Given the description of an element on the screen output the (x, y) to click on. 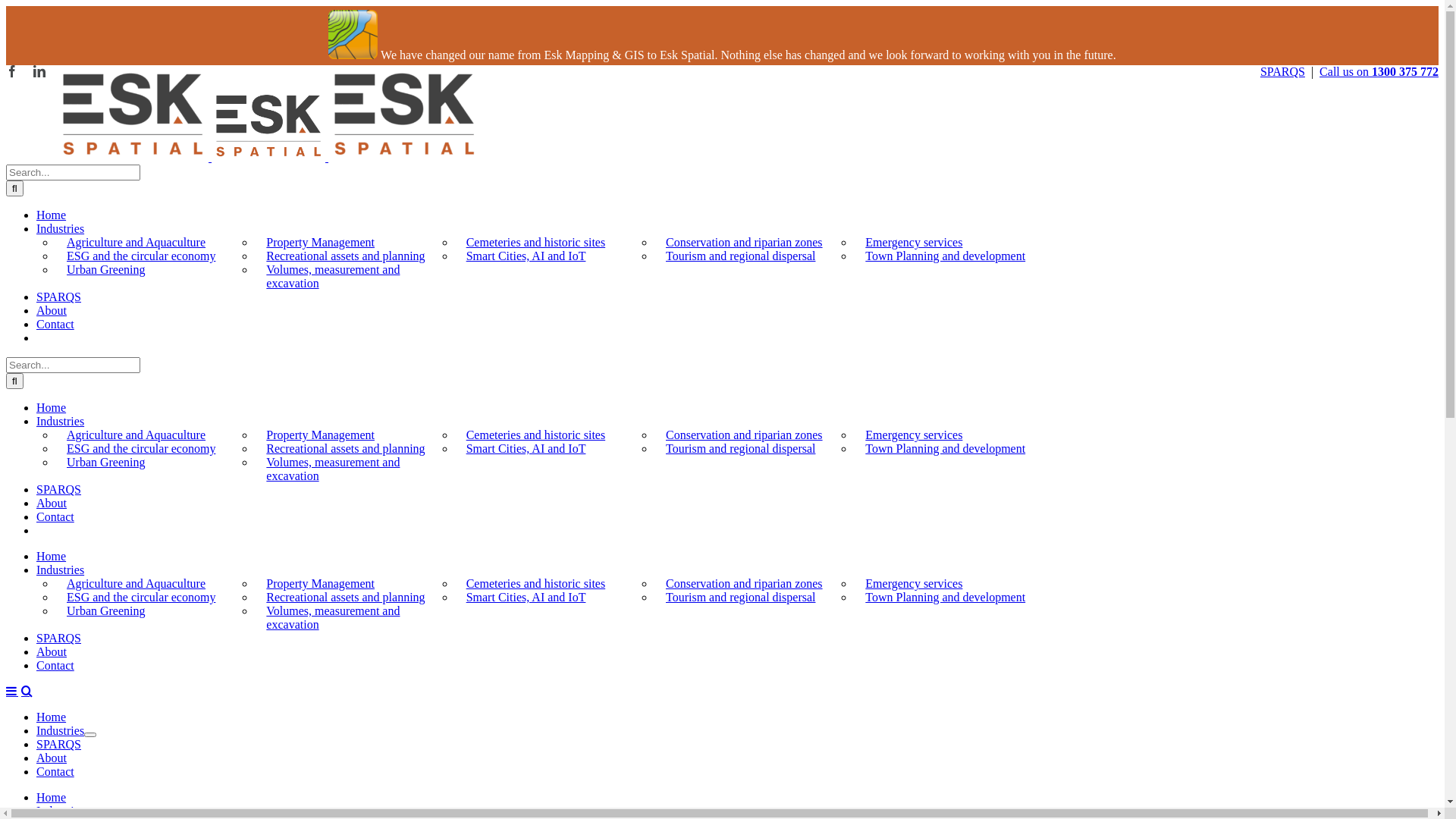
Urban Greening Element type: text (105, 269)
Urban Greening Element type: text (105, 461)
Recreational assets and planning Element type: text (345, 596)
Skip to content Element type: text (5, 64)
Emergency services Element type: text (913, 583)
Cemeteries and historic sites Element type: text (535, 583)
Smart Cities, AI and IoT Element type: text (526, 255)
Home Element type: text (50, 555)
SPARQS Element type: text (1282, 71)
Emergency services Element type: text (913, 241)
Volumes, measurement and excavation Element type: text (332, 468)
Town Planning and development Element type: text (945, 255)
Recreational assets and planning Element type: text (345, 448)
ESG and the circular economy Element type: text (140, 448)
Cemeteries and historic sites Element type: text (535, 241)
Smart Cities, AI and IoT Element type: text (526, 448)
Conservation and riparian zones Element type: text (743, 241)
Industries Element type: text (60, 420)
About Element type: text (51, 310)
About Element type: text (51, 651)
Industries Element type: text (60, 569)
SPARQS Element type: text (58, 637)
About Element type: text (51, 757)
SPARQS Element type: text (58, 743)
Urban Greening Element type: text (105, 610)
Call us on 1300 375 772 Element type: text (1378, 71)
Recreational assets and planning Element type: text (345, 255)
Home Element type: text (50, 716)
Industries Element type: text (60, 810)
Contact Element type: text (55, 323)
Property Management Element type: text (320, 583)
Tourism and regional dispersal Element type: text (740, 448)
Property Management Element type: text (320, 241)
Home Element type: text (50, 407)
Tourism and regional dispersal Element type: text (740, 596)
Volumes, measurement and excavation Element type: text (332, 276)
Facebook Element type: text (12, 71)
Contact Element type: text (55, 771)
Tourism and regional dispersal Element type: text (740, 255)
Conservation and riparian zones Element type: text (743, 434)
Contact Element type: text (55, 516)
Agriculture and Aquaculture Element type: text (135, 434)
Smart Cities, AI and IoT Element type: text (526, 596)
Cemeteries and historic sites Element type: text (535, 434)
SPARQS Element type: text (58, 489)
ESG and the circular economy Element type: text (140, 255)
Property Management Element type: text (320, 434)
Town Planning and development Element type: text (945, 596)
Industries Element type: text (60, 730)
LinkedIn Element type: text (39, 71)
SPARQS Element type: text (58, 296)
Industries Element type: text (60, 228)
Volumes, measurement and excavation Element type: text (332, 617)
Conservation and riparian zones Element type: text (743, 583)
Home Element type: text (50, 214)
ESG and the circular economy Element type: text (140, 596)
Contact Element type: text (55, 664)
Home Element type: text (50, 796)
Agriculture and Aquaculture Element type: text (135, 583)
Town Planning and development Element type: text (945, 448)
About Element type: text (51, 502)
Agriculture and Aquaculture Element type: text (135, 241)
Emergency services Element type: text (913, 434)
